Given the description of an element on the screen output the (x, y) to click on. 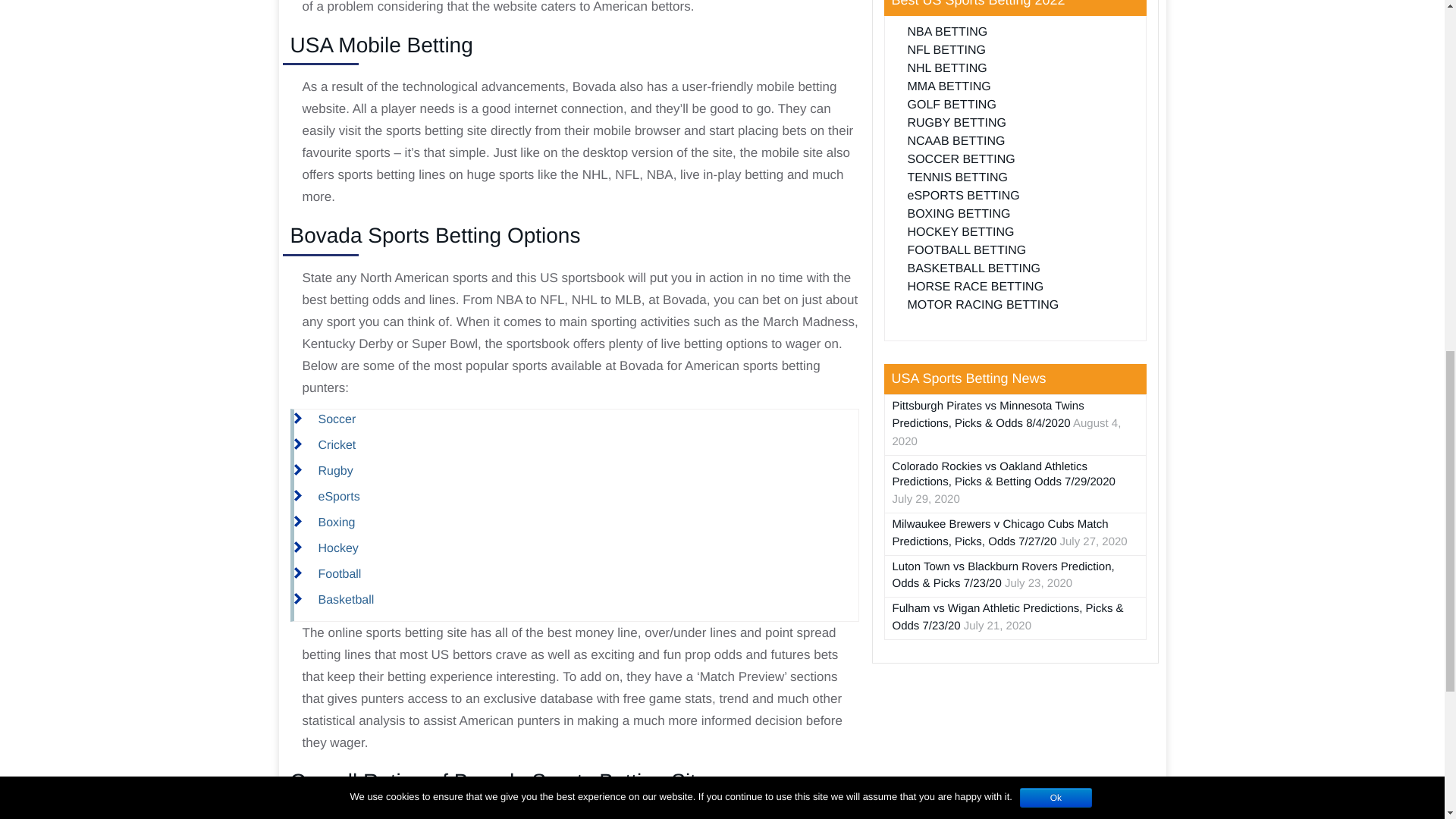
HORSE RACE BETTING (975, 286)
TENNIS BETTING (957, 177)
BOXING BETTING (958, 214)
NHL BETTING (947, 68)
GOLF BETTING (951, 104)
SOCCER BETTING (960, 159)
NCAAB BETTING (955, 141)
MMA BETTING (948, 86)
BASKETBALL BETTING (973, 268)
eSPORTS BETTING (963, 195)
MOTOR RACING BETTING (982, 305)
FOOTBALL BETTING (966, 250)
NFL BETTING (946, 50)
NBA BETTING (947, 31)
HOCKEY BETTING (960, 232)
